Given the description of an element on the screen output the (x, y) to click on. 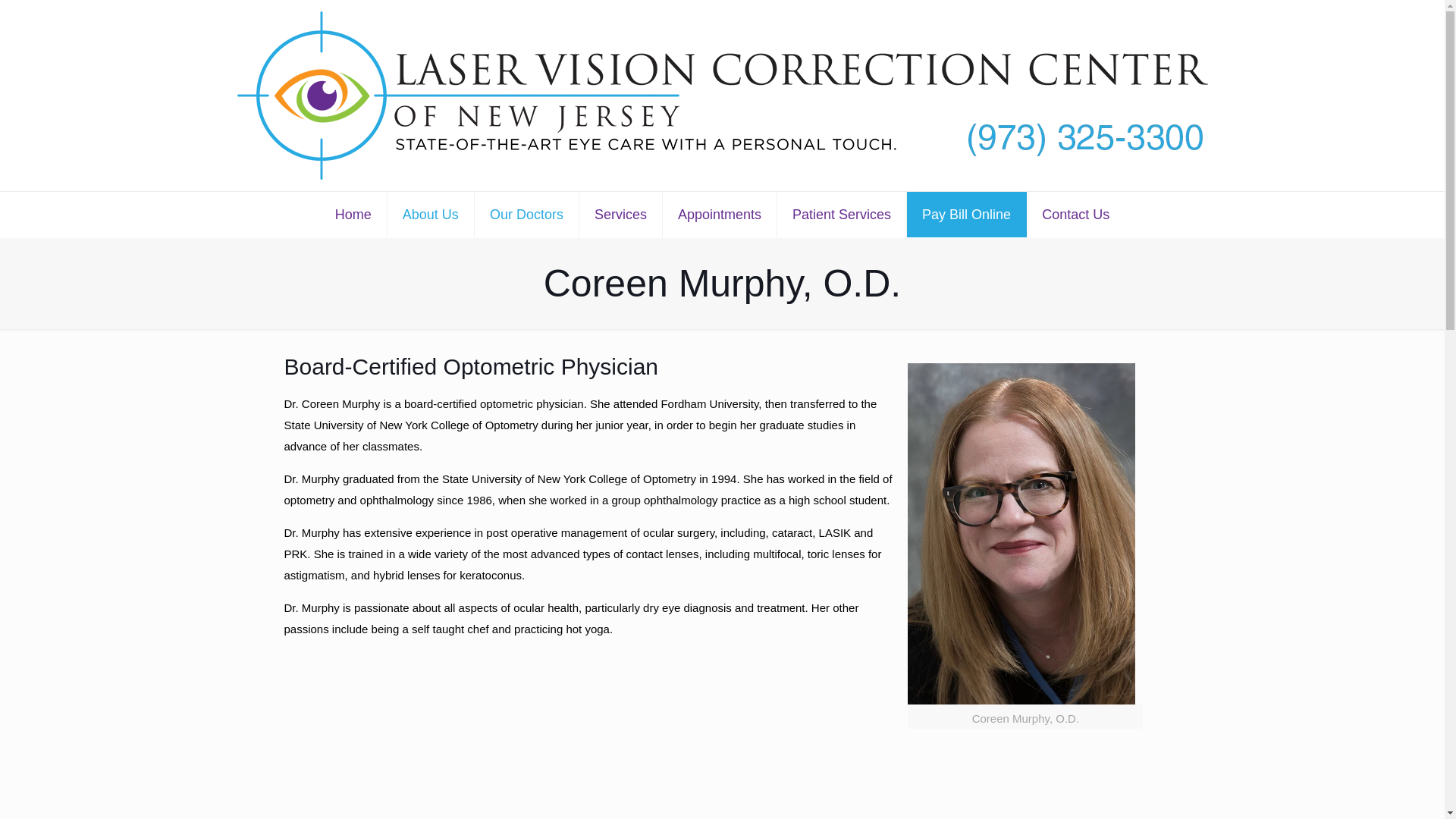
Our Doctors (526, 214)
Appointments (719, 214)
Services (620, 214)
Patient Services (842, 214)
About Us (430, 214)
Home (353, 214)
